Given the description of an element on the screen output the (x, y) to click on. 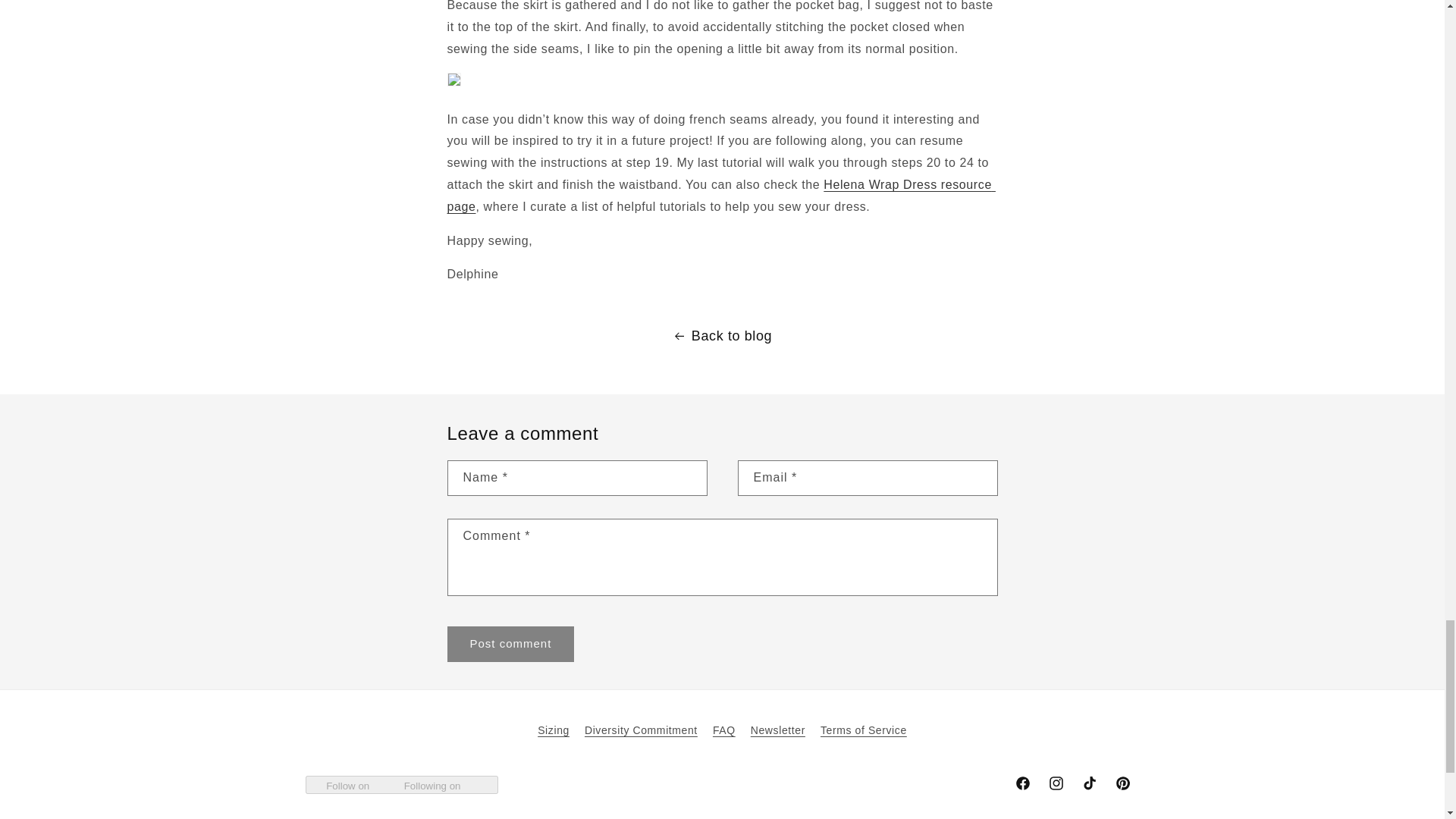
Post comment (510, 643)
Helena Wrap Dress resource page (720, 195)
Sizing (553, 732)
Post comment (510, 643)
